Given the description of an element on the screen output the (x, y) to click on. 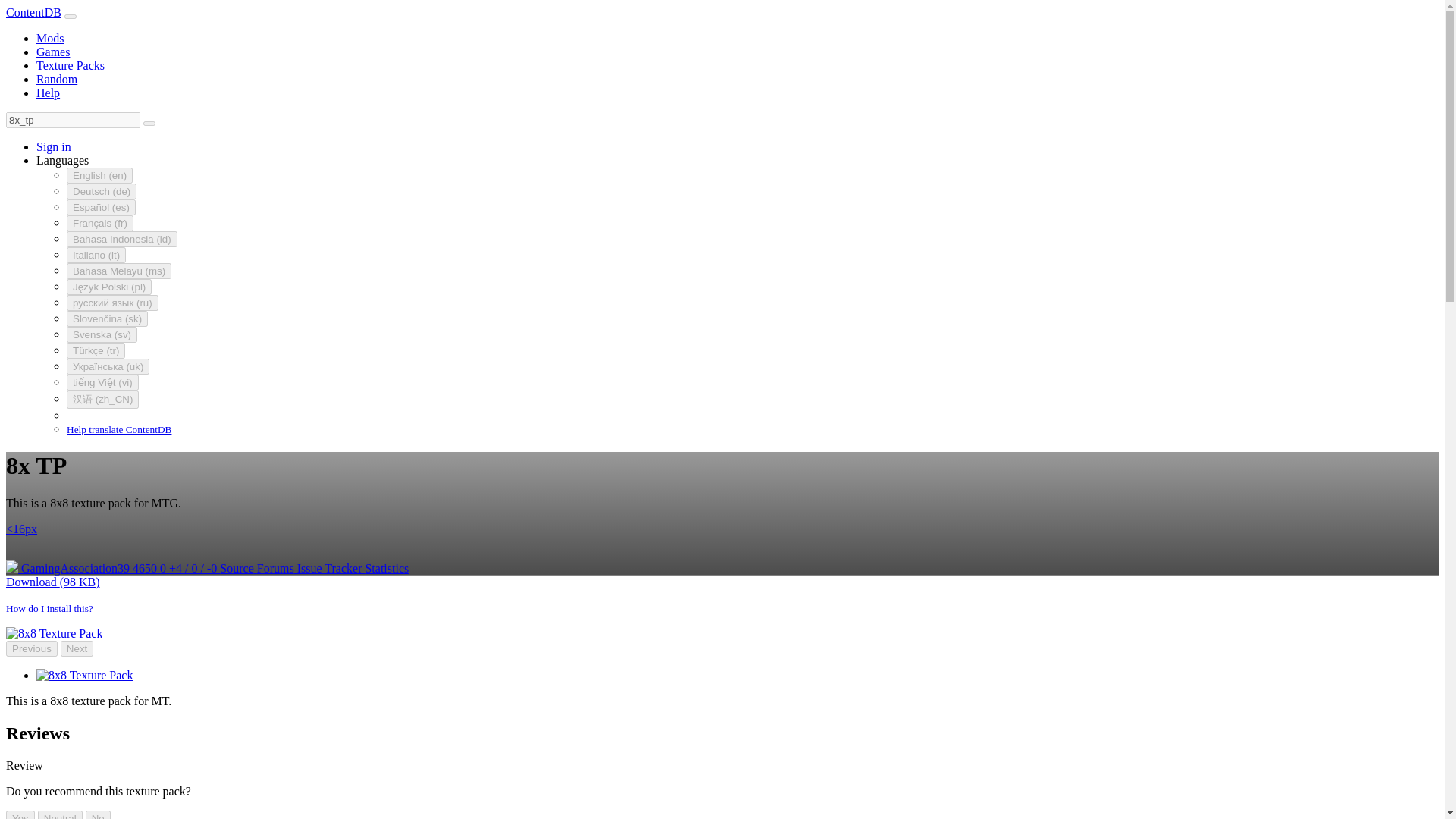
Less than 16px (21, 528)
Texture Packs (70, 65)
Help translate ContentDB (118, 428)
Forums (277, 567)
Previous (31, 648)
8x8 Texture Pack (84, 675)
Reviews (193, 567)
Next (77, 648)
Author (68, 567)
GamingAssociation39 (68, 567)
